Given the description of an element on the screen output the (x, y) to click on. 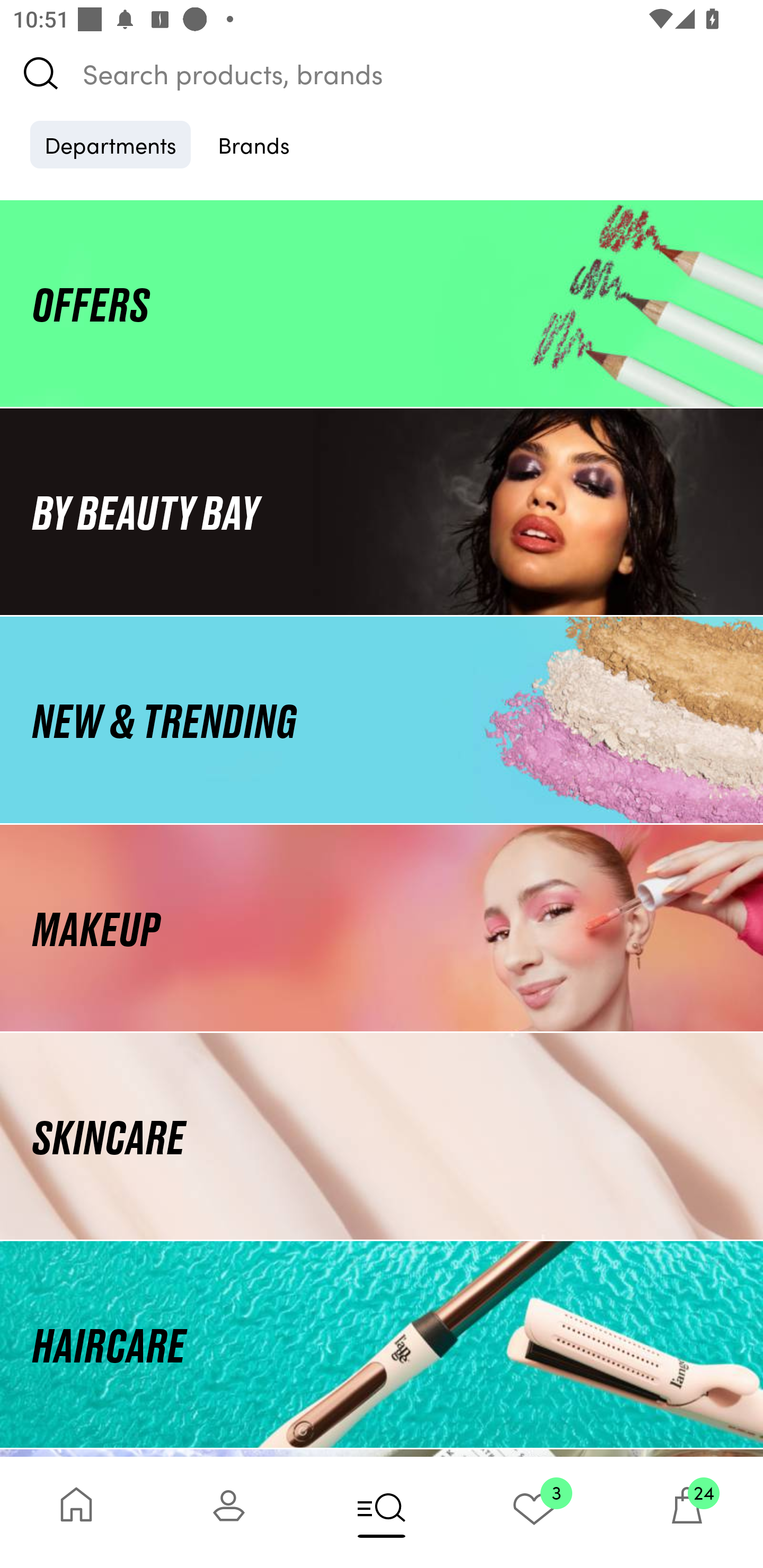
Search products, brands (381, 72)
Departments (110, 143)
Brands (253, 143)
OFFERS (381, 303)
BY BEAUTY BAY (381, 510)
NEW & TRENDING (381, 719)
MAKEUP (381, 927)
SKINCARE (381, 1136)
HAIRCARE (381, 1344)
3 (533, 1512)
24 (686, 1512)
